Given the description of an element on the screen output the (x, y) to click on. 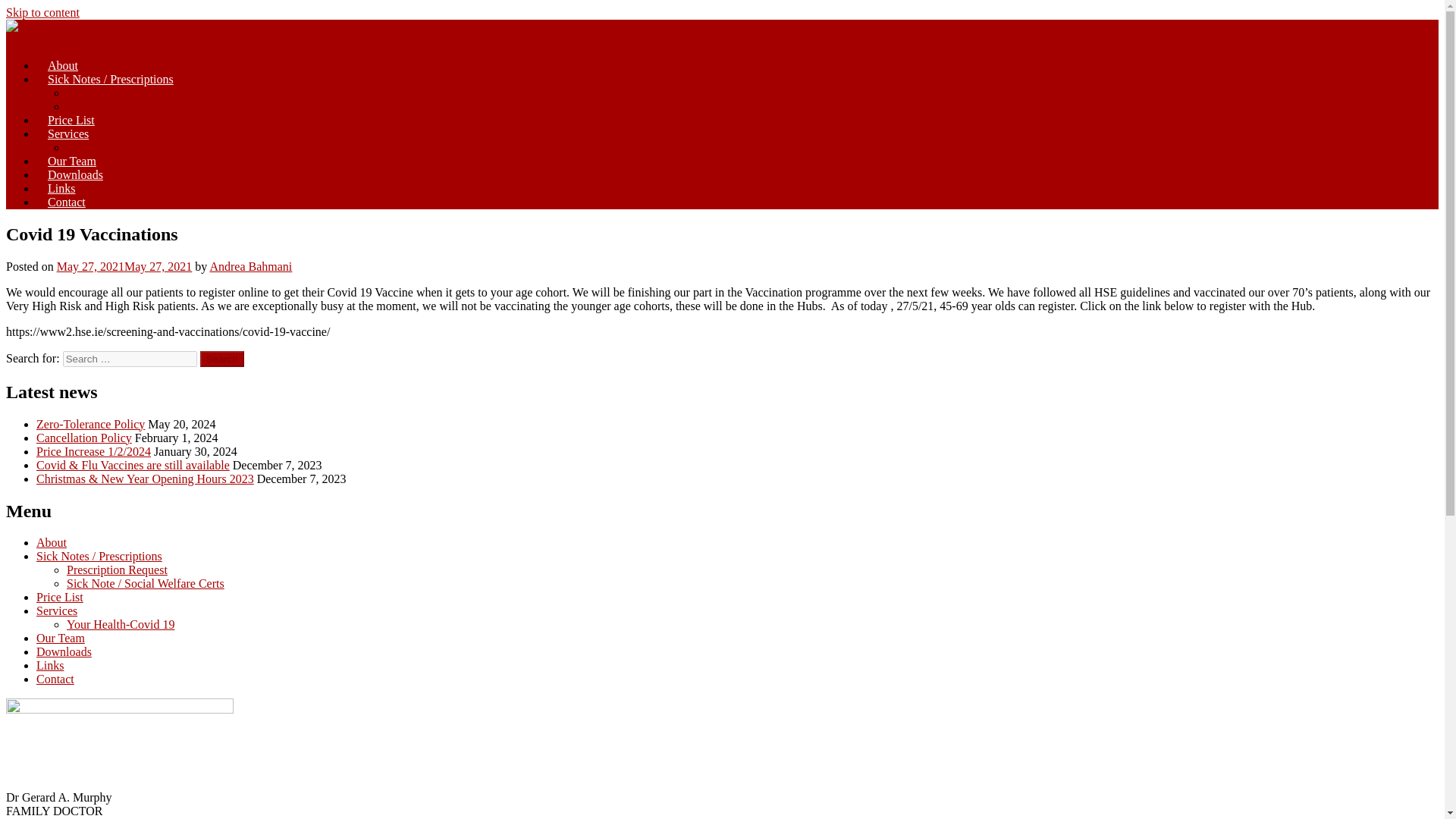
Your Health-Covid 19 (131, 146)
Skip to content (42, 11)
Links (50, 665)
Andrea Bahmani (250, 266)
Services (68, 133)
Contact (55, 678)
Search (222, 358)
Prescription Request (116, 569)
Prescription Request (128, 92)
Zero-Tolerance Policy (90, 423)
Downloads (75, 174)
About (51, 542)
Menu (19, 39)
Search (222, 358)
Our Team (60, 637)
